Given the description of an element on the screen output the (x, y) to click on. 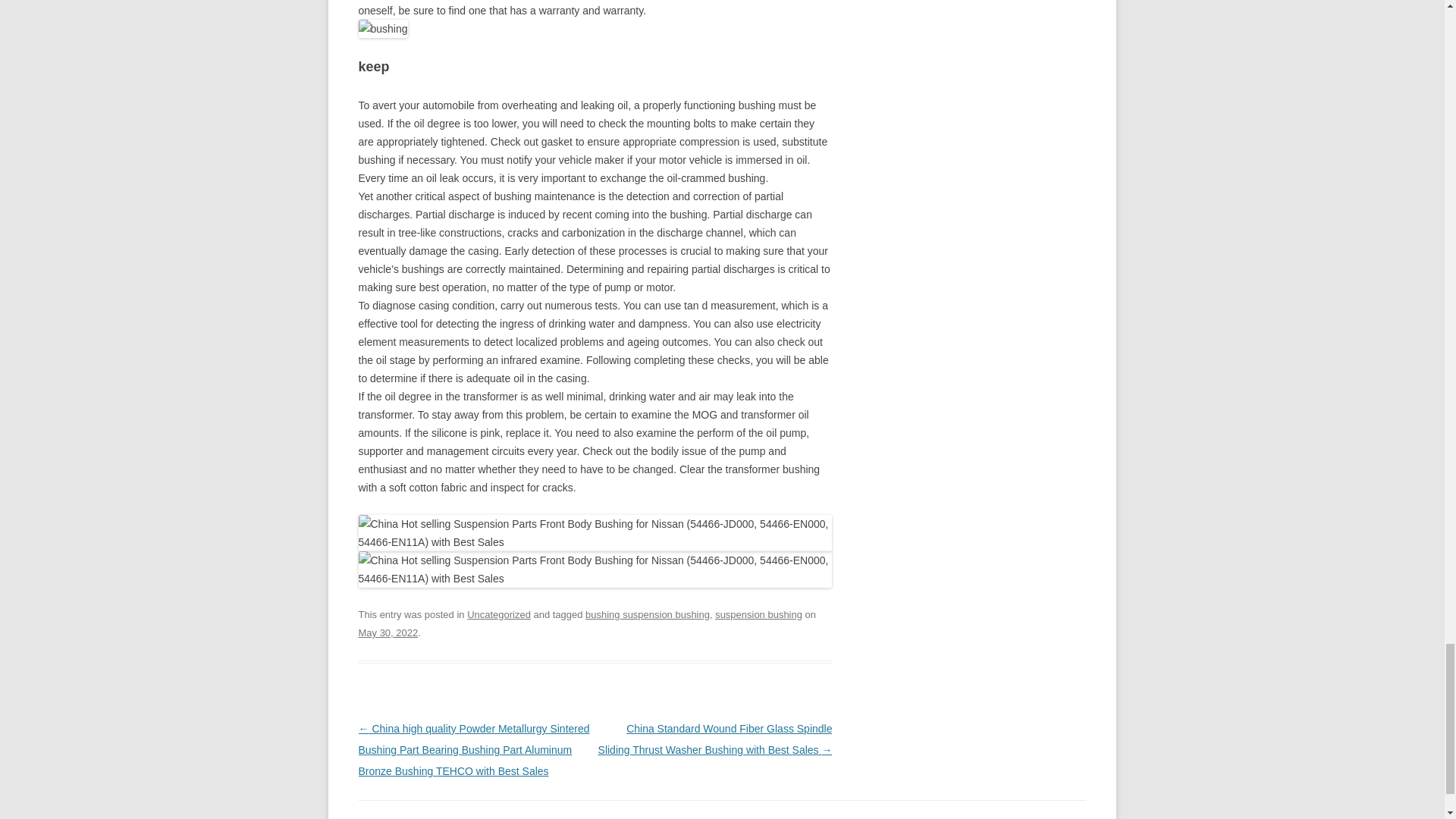
Uncategorized (499, 614)
2:11 pm (387, 632)
bushing suspension bushing (647, 614)
May 30, 2022 (387, 632)
suspension bushing (758, 614)
